Given the description of an element on the screen output the (x, y) to click on. 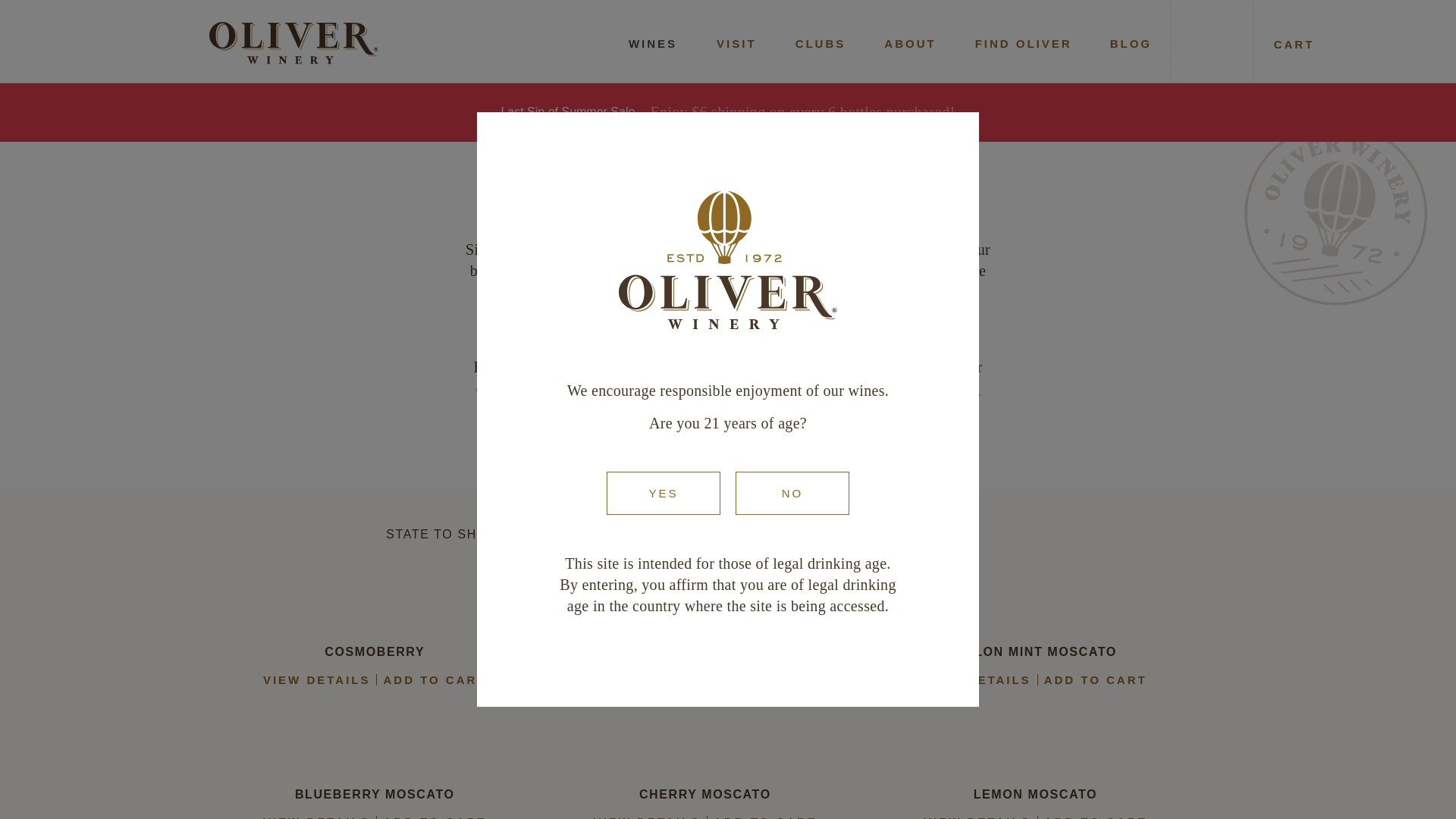
VISIT (736, 43)
WINES (652, 43)
YES (663, 493)
ABOUT (909, 43)
CLUBS (820, 43)
NO (791, 493)
